Given the description of an element on the screen output the (x, y) to click on. 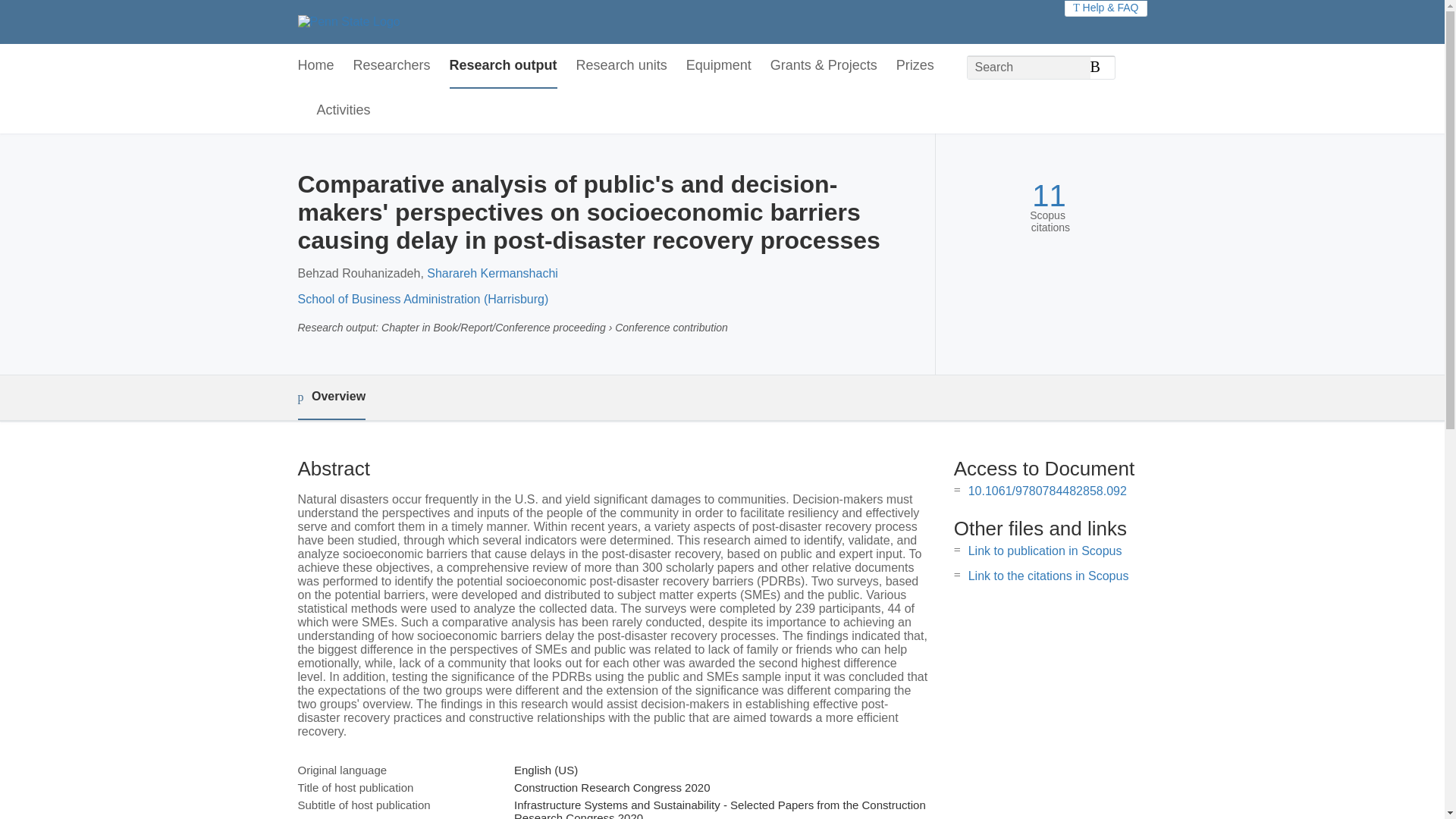
Research units (621, 66)
Equipment (718, 66)
Sharareh Kermanshachi (491, 273)
Link to the citations in Scopus (1048, 575)
Research output (503, 66)
Penn State Home (347, 21)
Overview (331, 397)
Researchers (391, 66)
Activities (344, 110)
